Given the description of an element on the screen output the (x, y) to click on. 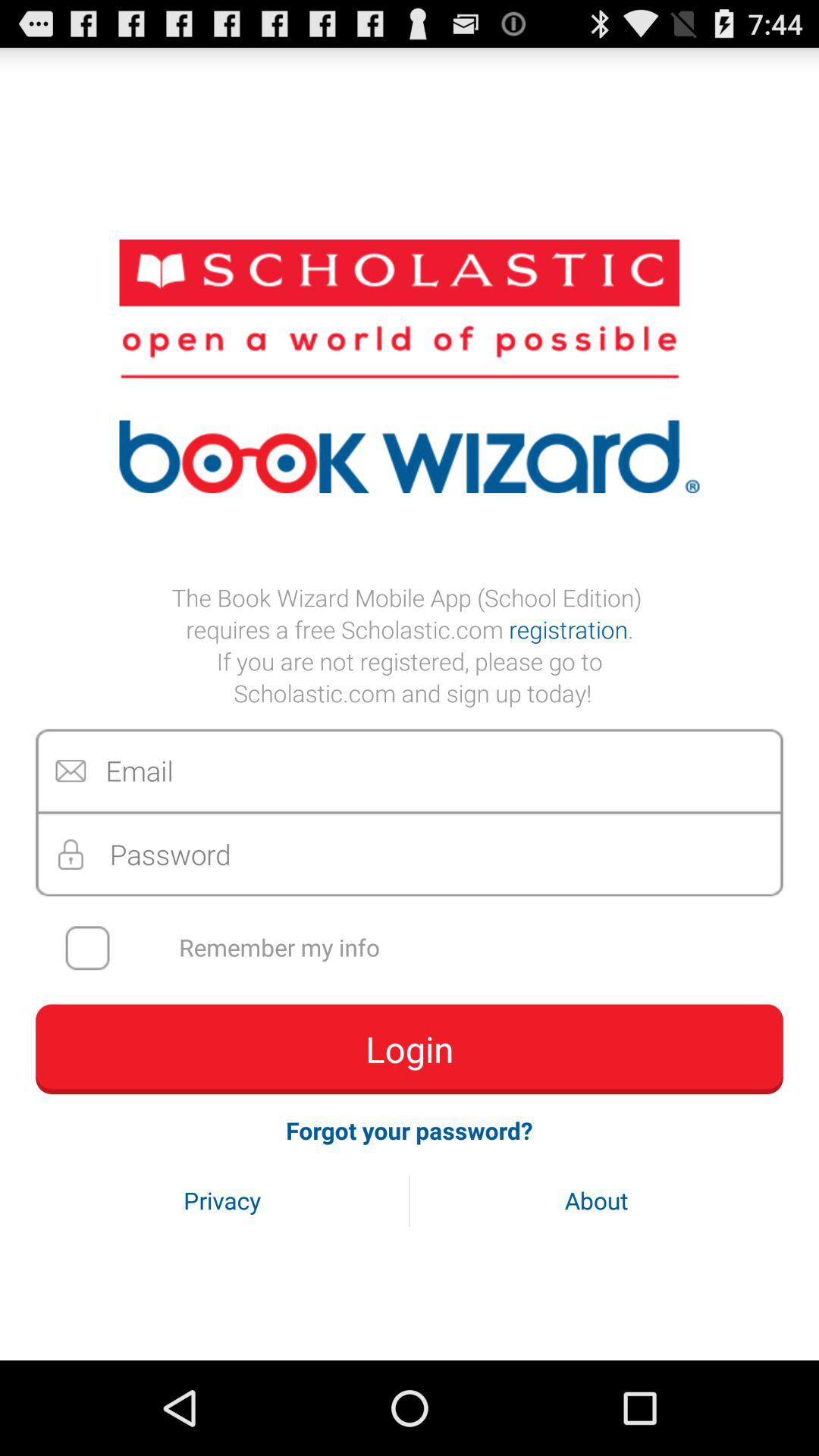
select the the book wizard app (409, 645)
